Given the description of an element on the screen output the (x, y) to click on. 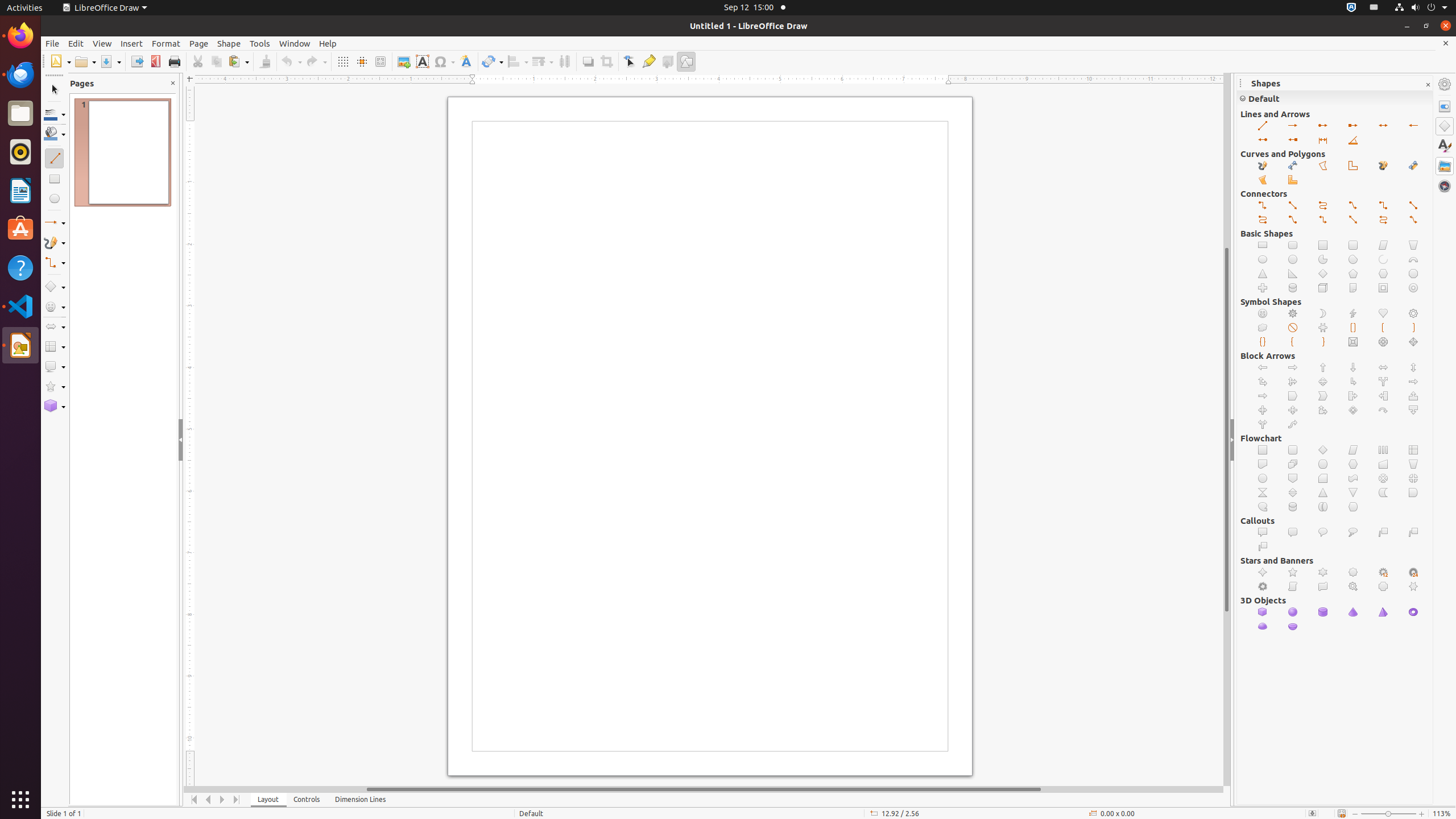
Flowchart: Manual Operation Element type: list-item (1413, 464)
LibreOffice Draw Element type: push-button (20, 344)
Flowchart: Process Element type: list-item (1262, 450)
Line with Circle/Arrow Element type: list-item (1323, 125)
Cylinder Element type: list-item (1323, 612)
